Given the description of an element on the screen output the (x, y) to click on. 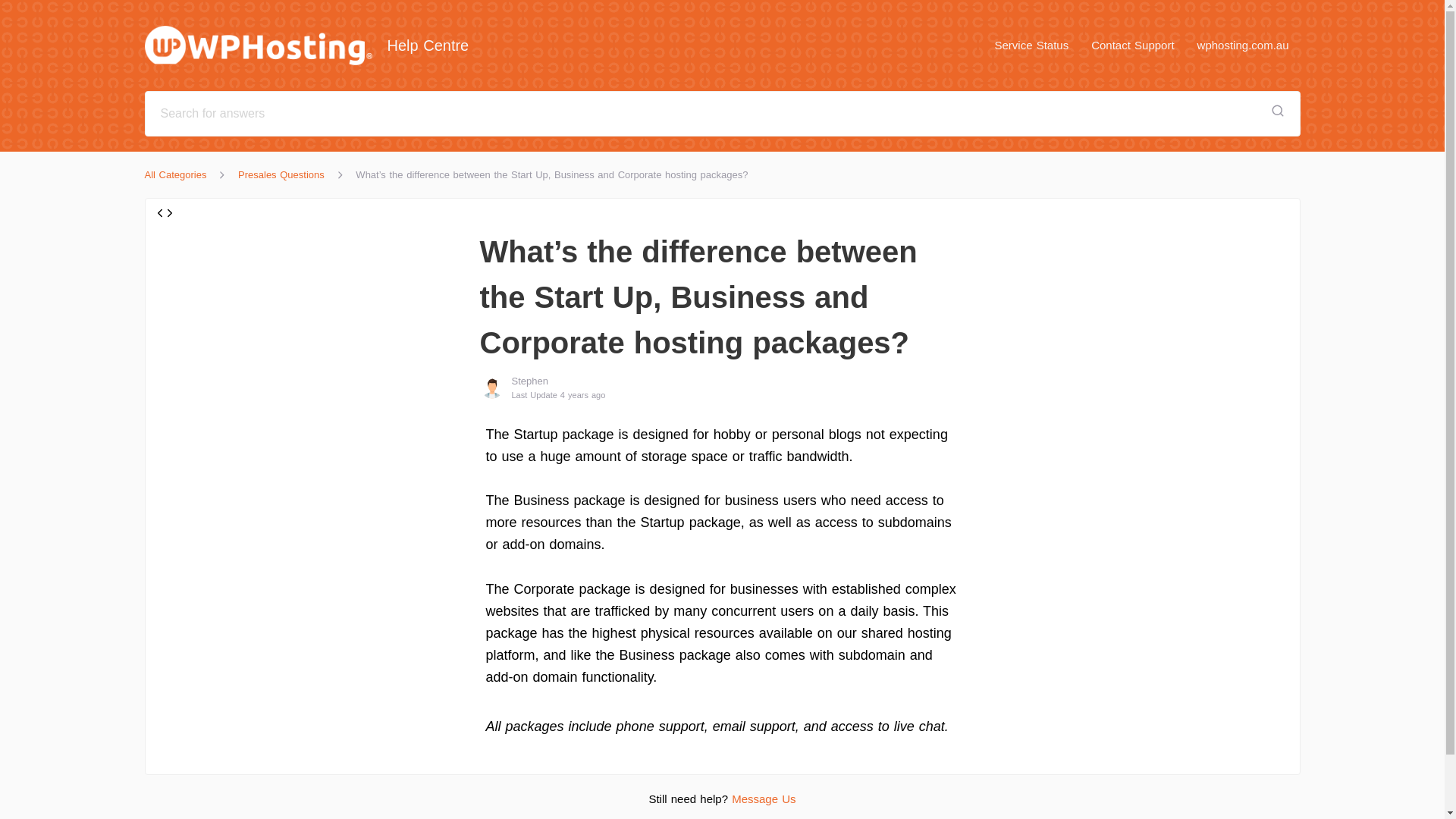
Help Centre (313, 45)
Contact Support (1132, 45)
wphosting.com.au (1243, 45)
All Categories (175, 174)
Message Us (763, 798)
Presales Questions (281, 174)
Service Status (1031, 45)
